Given the description of an element on the screen output the (x, y) to click on. 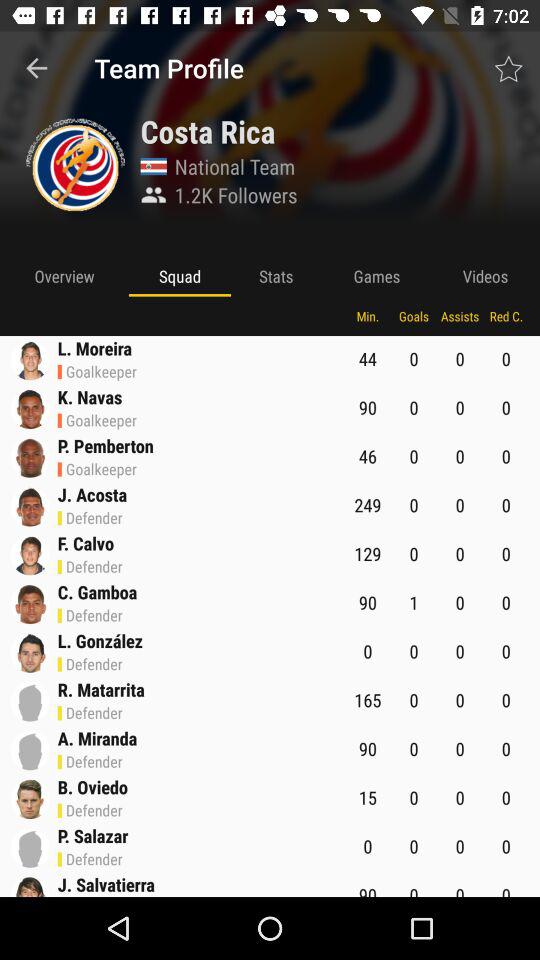
turn on games app (376, 276)
